Given the description of an element on the screen output the (x, y) to click on. 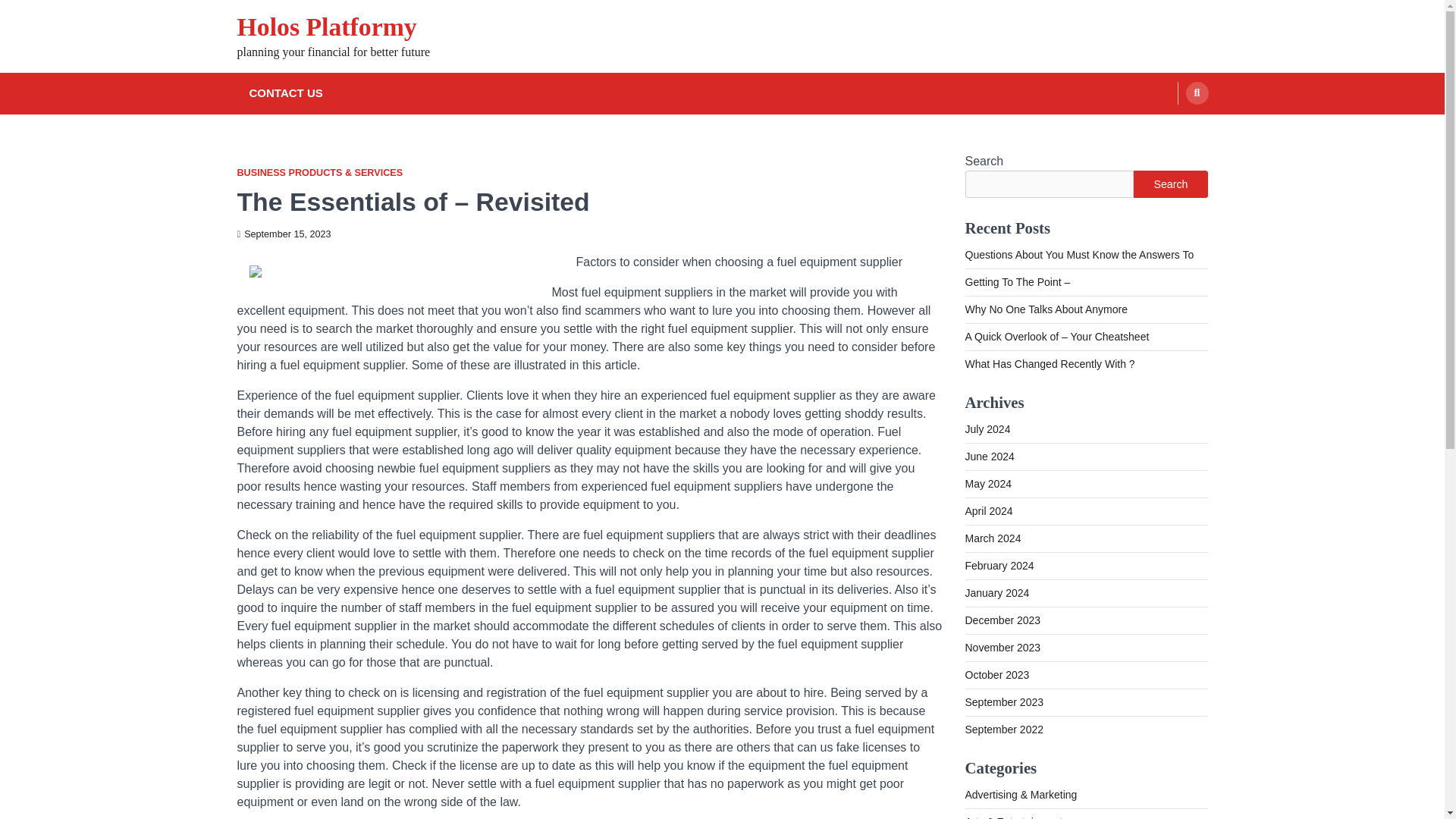
Why No One Talks About Anymore (1044, 309)
March 2024 (991, 538)
September 2023 (1003, 702)
CONTACT US (286, 93)
May 2024 (986, 483)
Search (1197, 92)
Holos Platformy (325, 26)
Search (1170, 184)
January 2024 (996, 592)
July 2024 (986, 428)
April 2024 (987, 510)
September 15, 2023 (282, 234)
December 2023 (1002, 620)
What Has Changed Recently With ? (1048, 363)
June 2024 (988, 456)
